Given the description of an element on the screen output the (x, y) to click on. 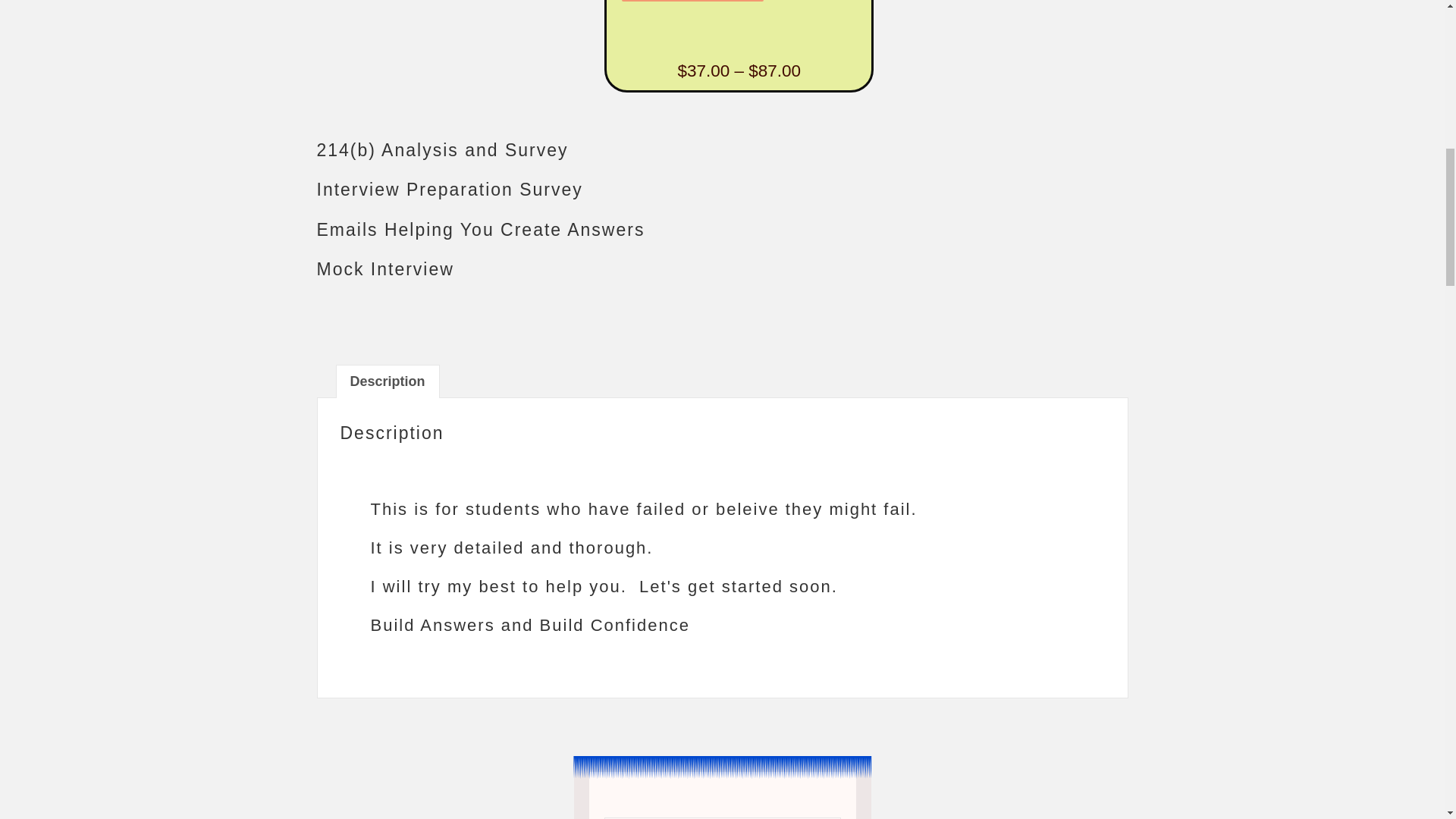
Add to cart (691, 0)
Description (387, 381)
